Given the description of an element on the screen output the (x, y) to click on. 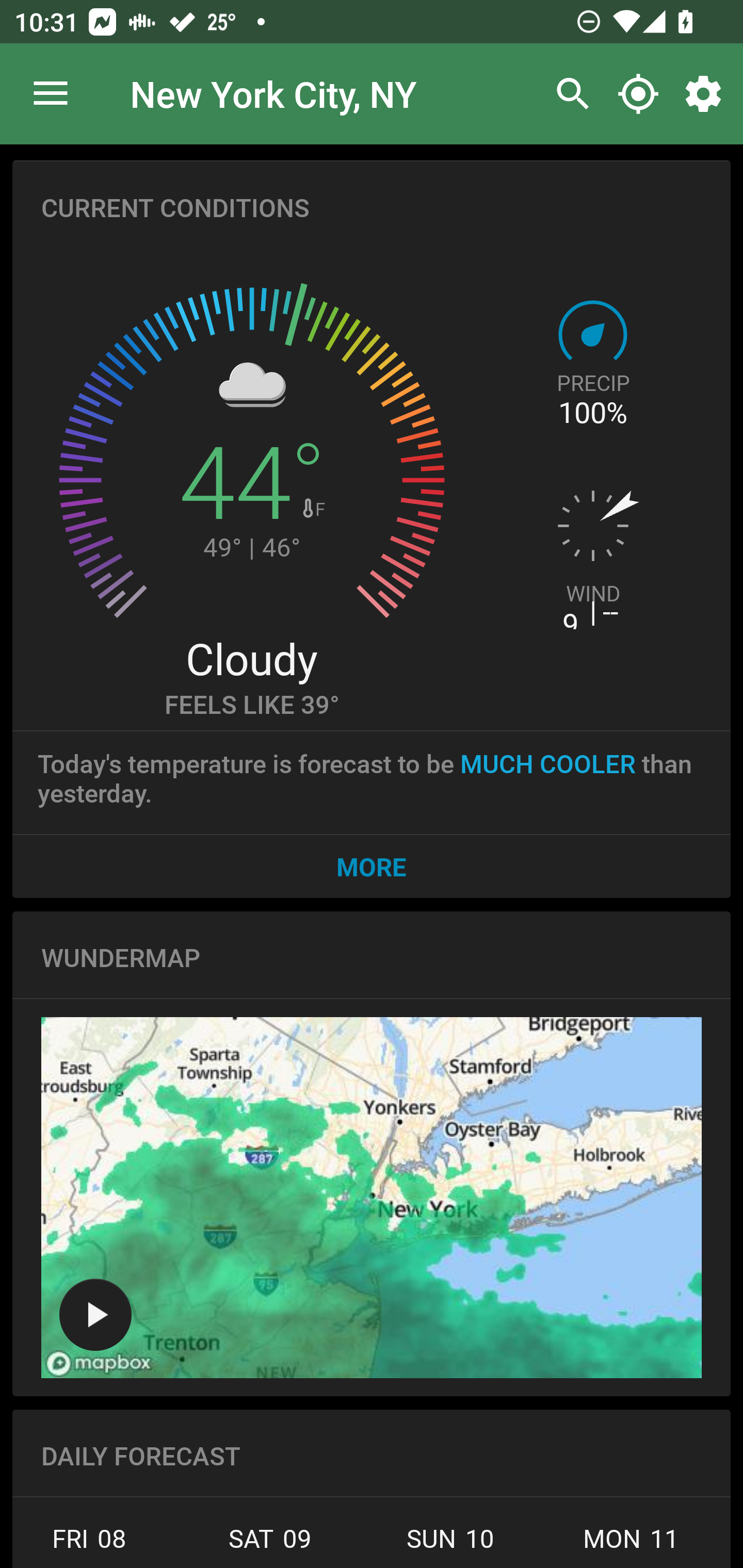
Press to open location manager. (50, 93)
Search for location (567, 94)
Select GPS location (637, 94)
Settings (706, 94)
New York City, NY (273, 92)
100% (592, 412)
Cloudy (251, 657)
MORE (371, 865)
Weather Map (371, 1197)
Weather Map (95, 1314)
FRI 08 (95, 1544)
SAT 09 (269, 1544)
SUN 10 (450, 1544)
MON 11 (630, 1544)
